Given the description of an element on the screen output the (x, y) to click on. 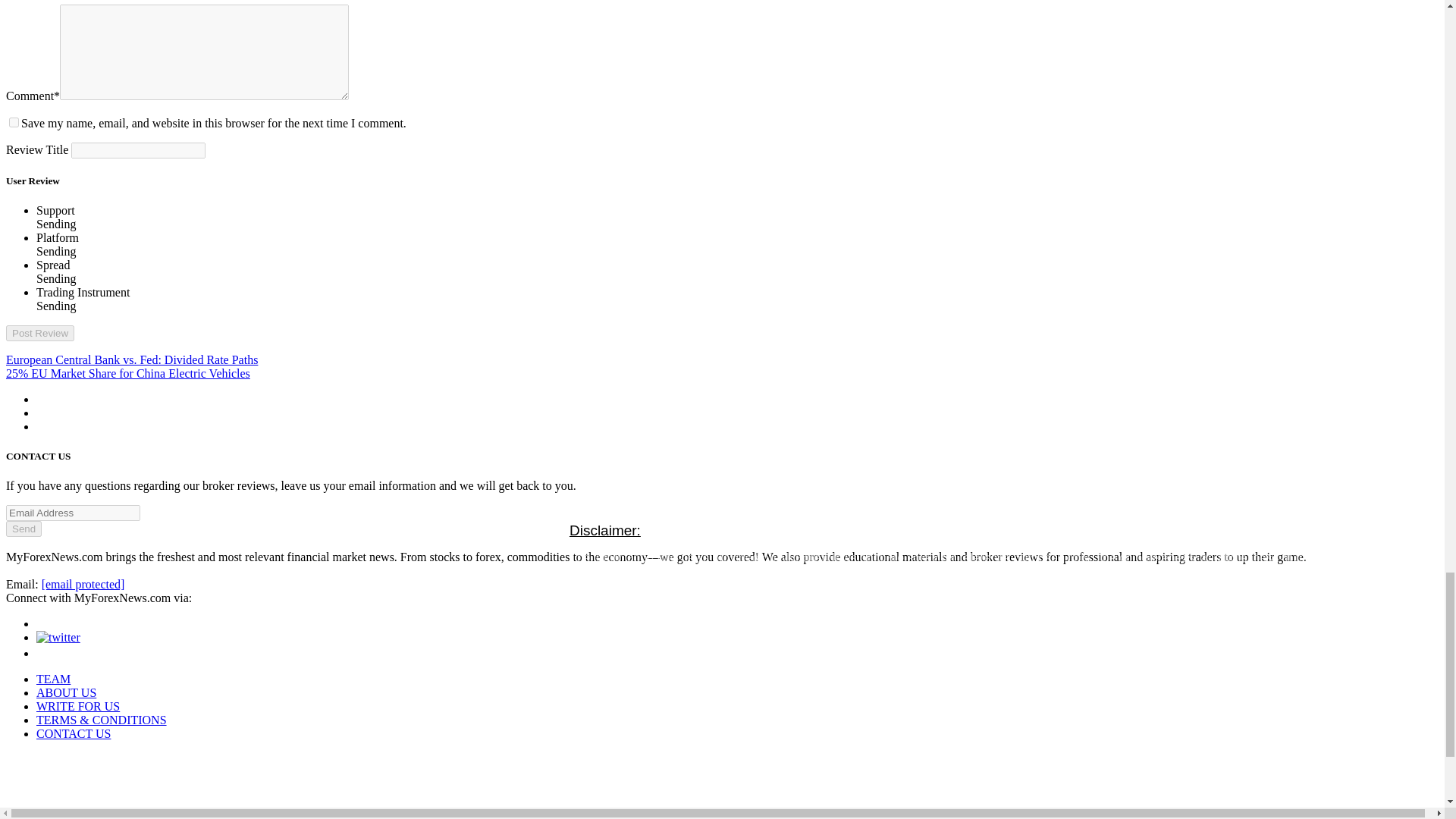
Send (23, 528)
yes (13, 122)
Post Review (39, 333)
